Given the description of an element on the screen output the (x, y) to click on. 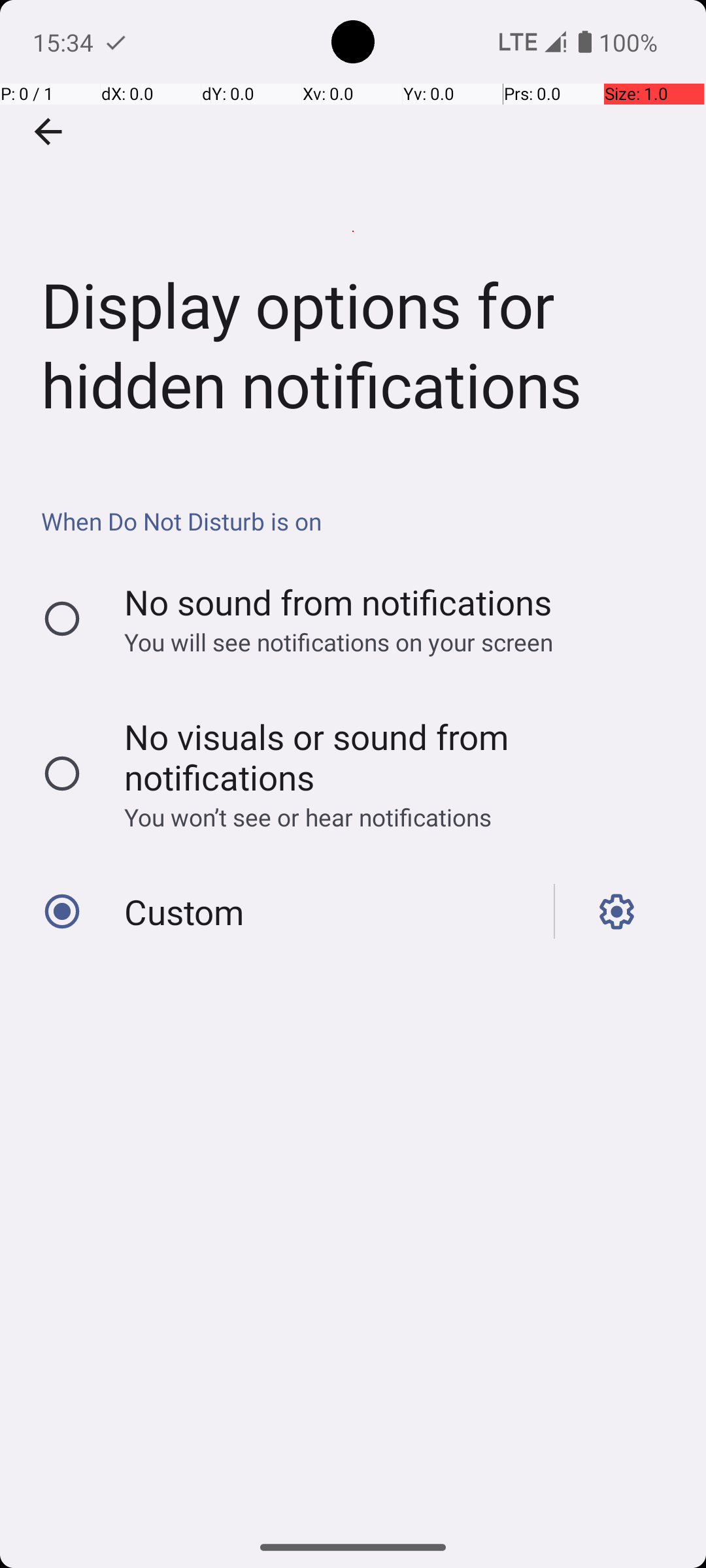
Display options for hidden notifications Element type: android.widget.FrameLayout (353, 231)
When Do Not Disturb is on Element type: android.widget.TextView (359, 520)
No sound from notifications Element type: android.widget.TextView (338, 601)
You will see notifications on your screen Element type: android.widget.TextView (387, 641)
No visuals or sound from notifications Element type: android.widget.TextView (387, 756)
You won’t see or hear notifications Element type: android.widget.TextView (387, 816)
